Given the description of an element on the screen output the (x, y) to click on. 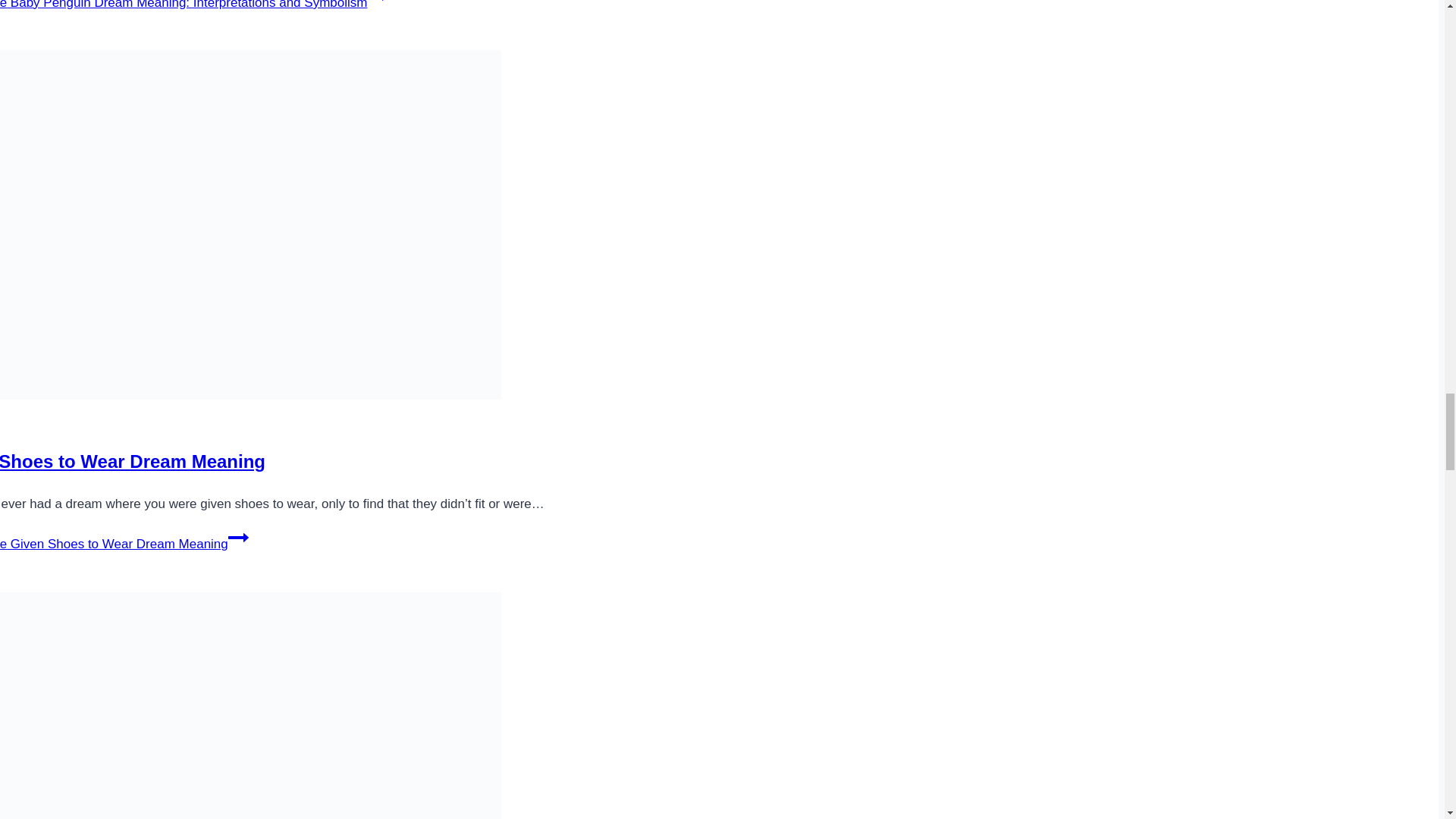
Continue (238, 537)
Continue (376, 3)
